Given the description of an element on the screen output the (x, y) to click on. 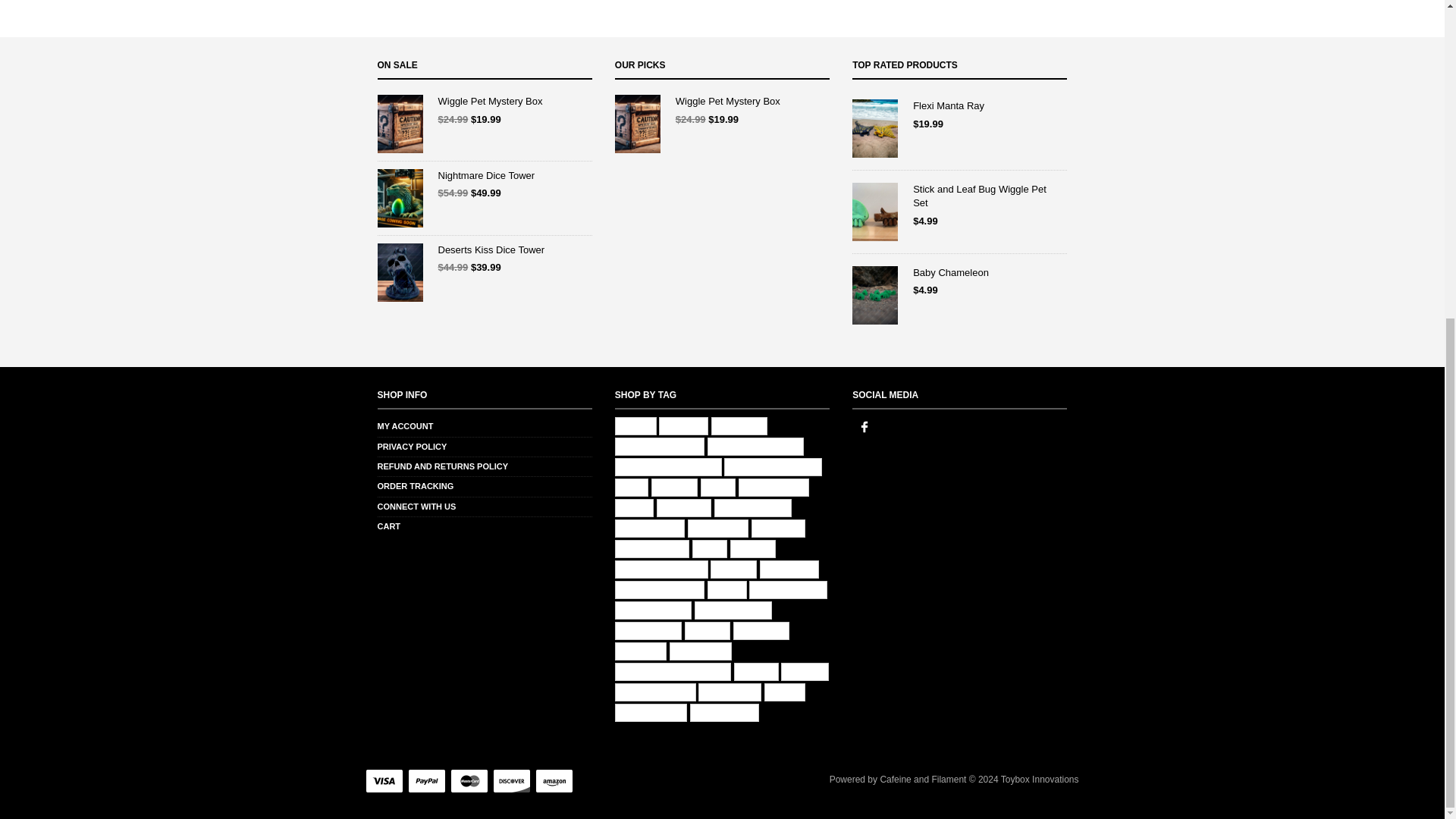
Wiggle Pet Mystery Box (484, 101)
Stick and Leaf Bug Wiggle Pet Set (959, 195)
REFUND AND RETURNS POLICY (442, 465)
PRIVACY POLICY (411, 446)
MY ACCOUNT (405, 425)
ORDER TRACKING (415, 485)
Flexi Manta Ray (959, 106)
Baby Chameleon (959, 273)
Wiggle Pet Mystery Box (721, 101)
Nightmare Dice Tower (484, 175)
